Given the description of an element on the screen output the (x, y) to click on. 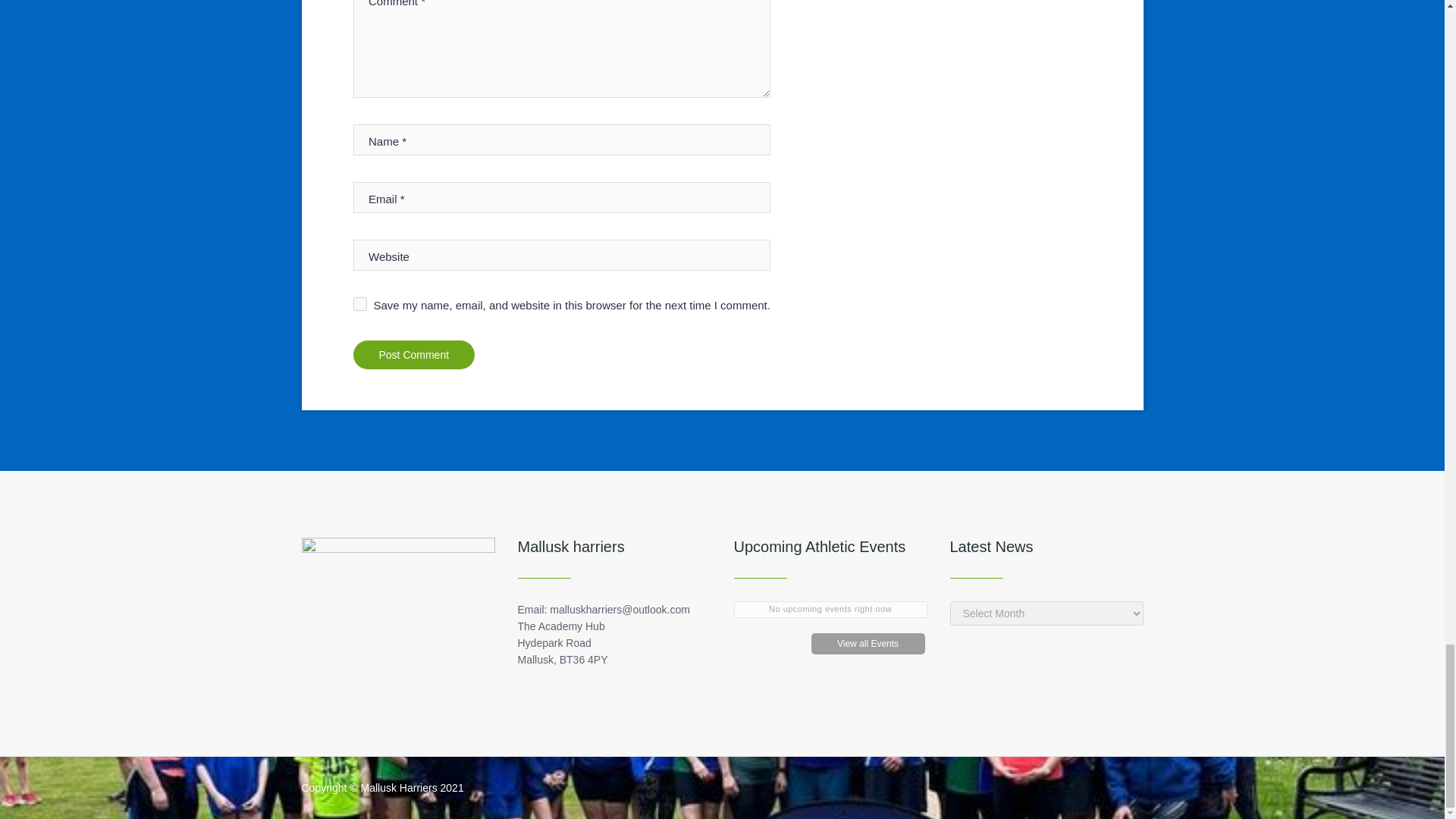
Post Comment (414, 354)
yes (359, 304)
